Given the description of an element on the screen output the (x, y) to click on. 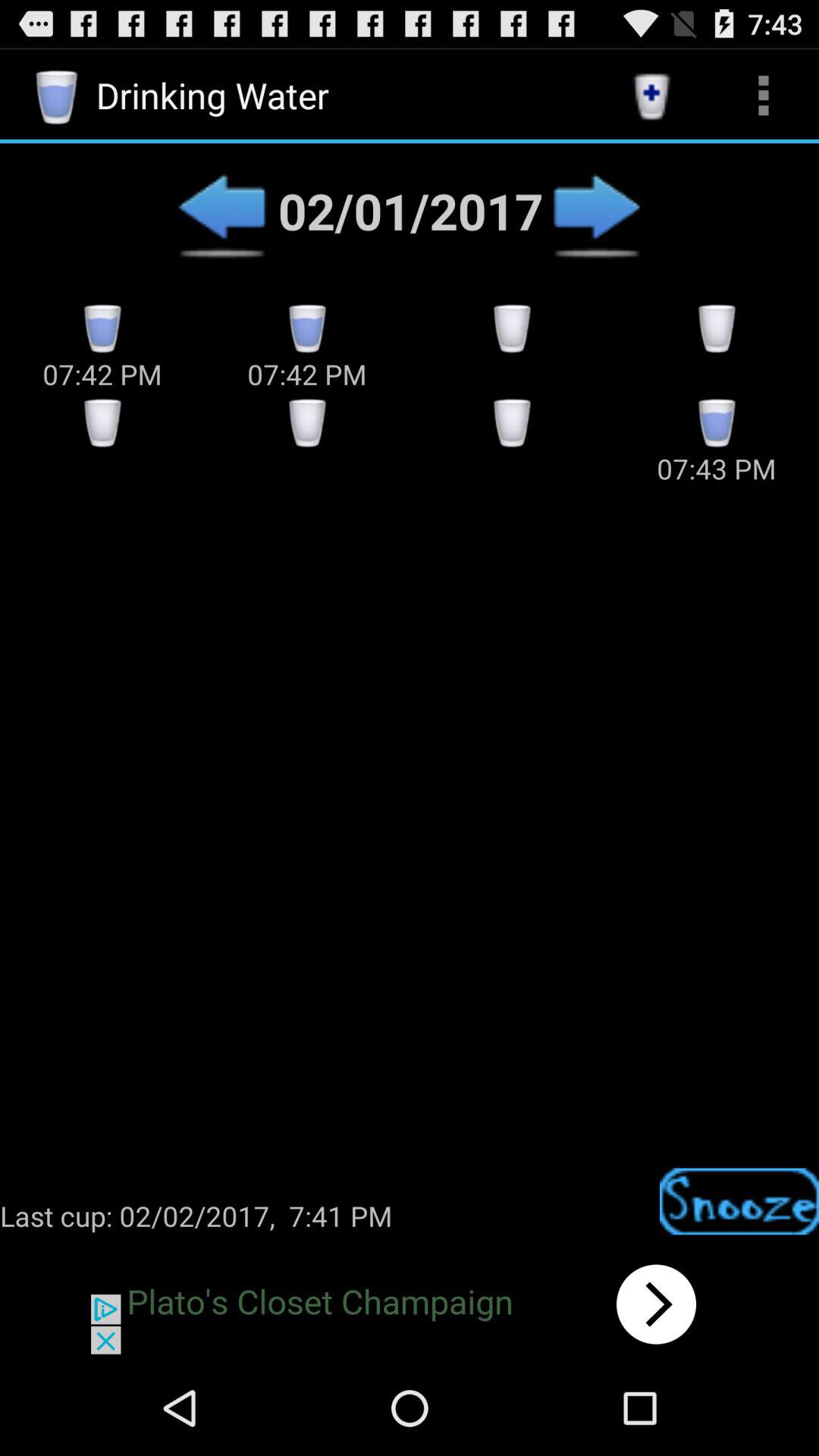
go to next (596, 210)
